Given the description of an element on the screen output the (x, y) to click on. 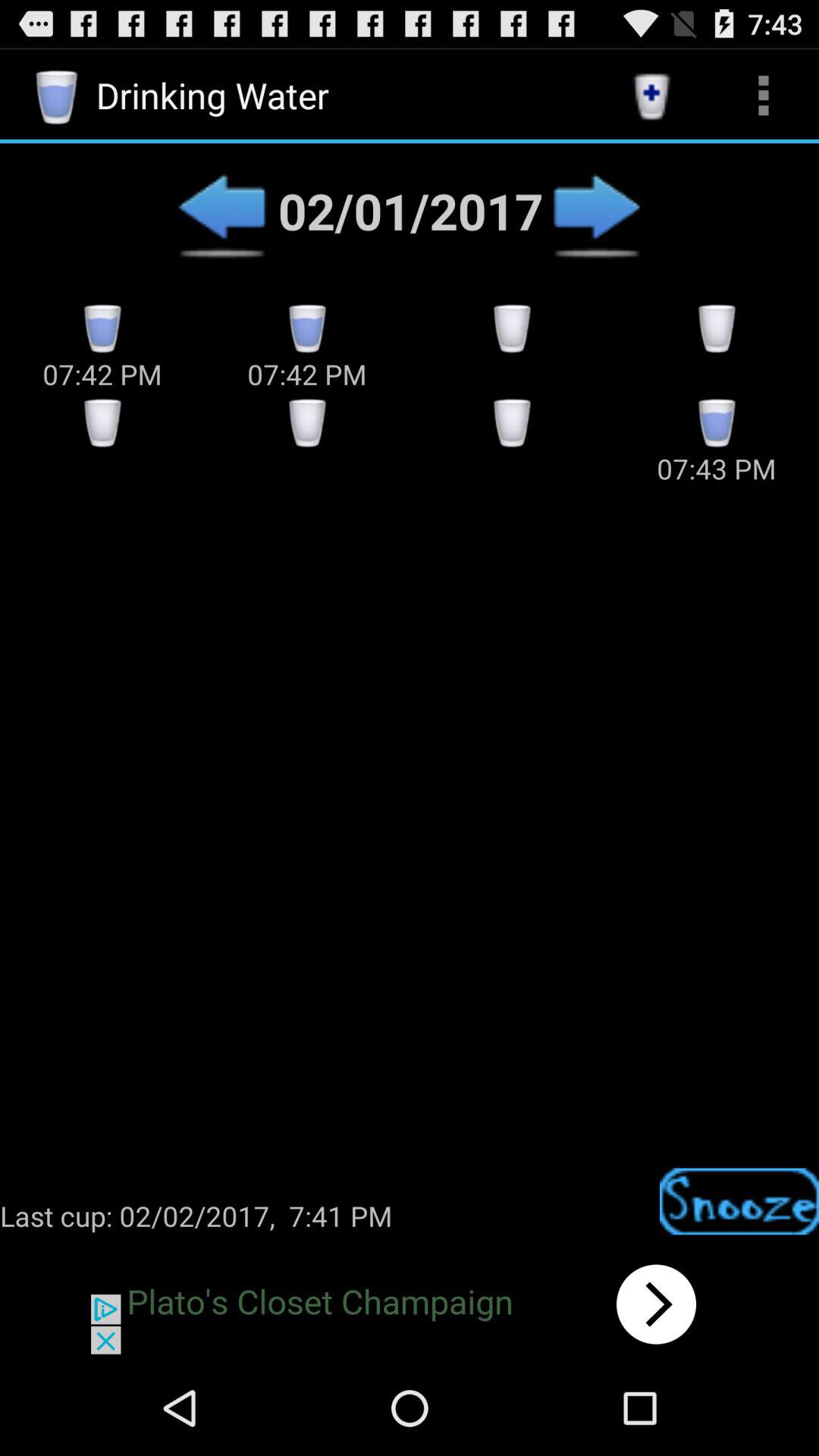
go to next (596, 210)
